Given the description of an element on the screen output the (x, y) to click on. 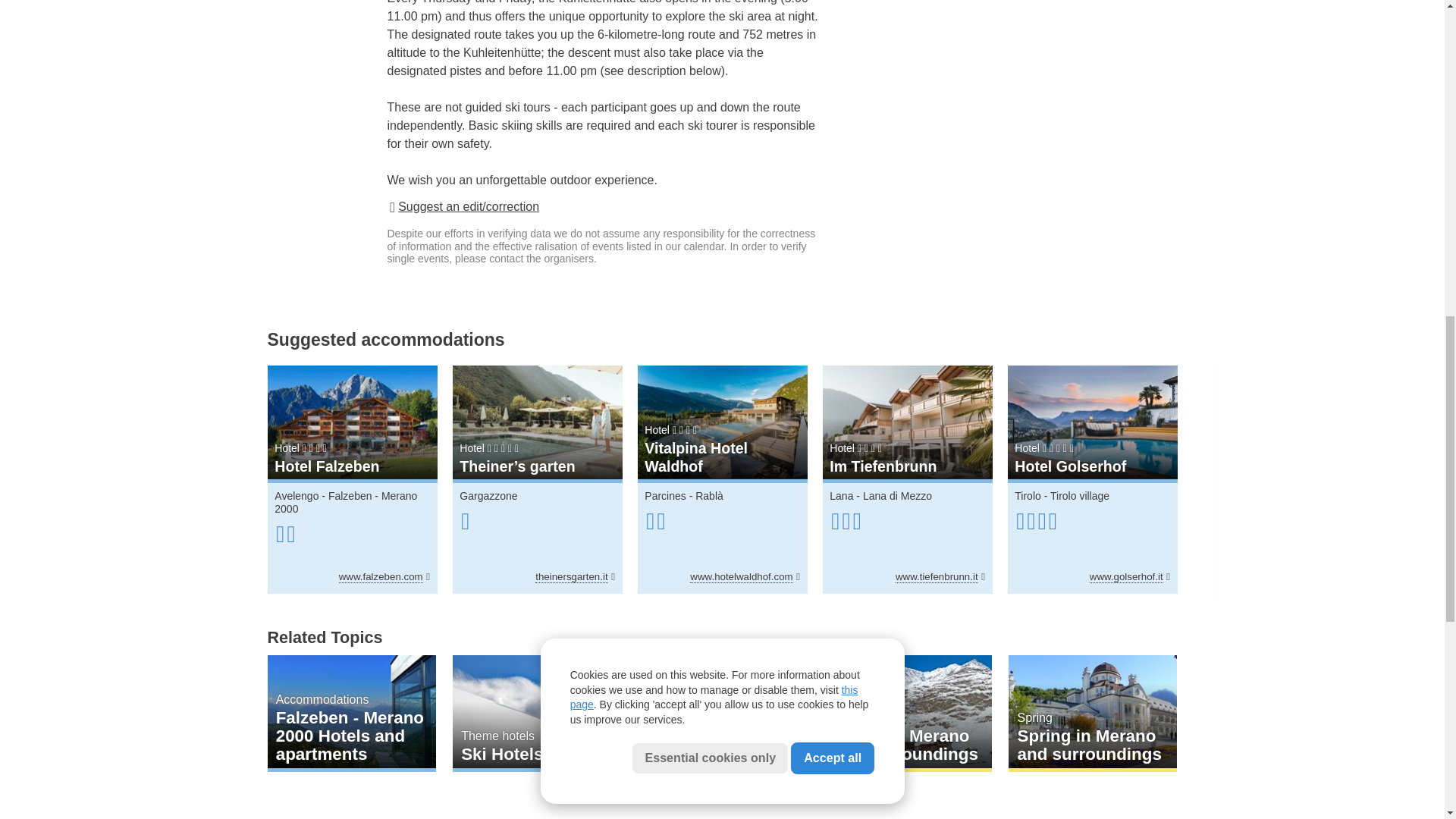
www.falzeben.com (384, 576)
Gargazzone (488, 495)
www.hotelwaldhof.com (744, 576)
Parcines (665, 495)
Lana (841, 495)
www.tiefenbrunn.it (940, 576)
theinersgarten.it (574, 576)
www.golserhof.it (1129, 576)
Avelengo (296, 495)
Tirolo village (1079, 495)
Falzeben - Merano 2000 Hotels and apartments (350, 713)
Falzeben - Merano 2000 (345, 502)
Lana di Mezzo (897, 495)
Tirolo (1027, 495)
